Given the description of an element on the screen output the (x, y) to click on. 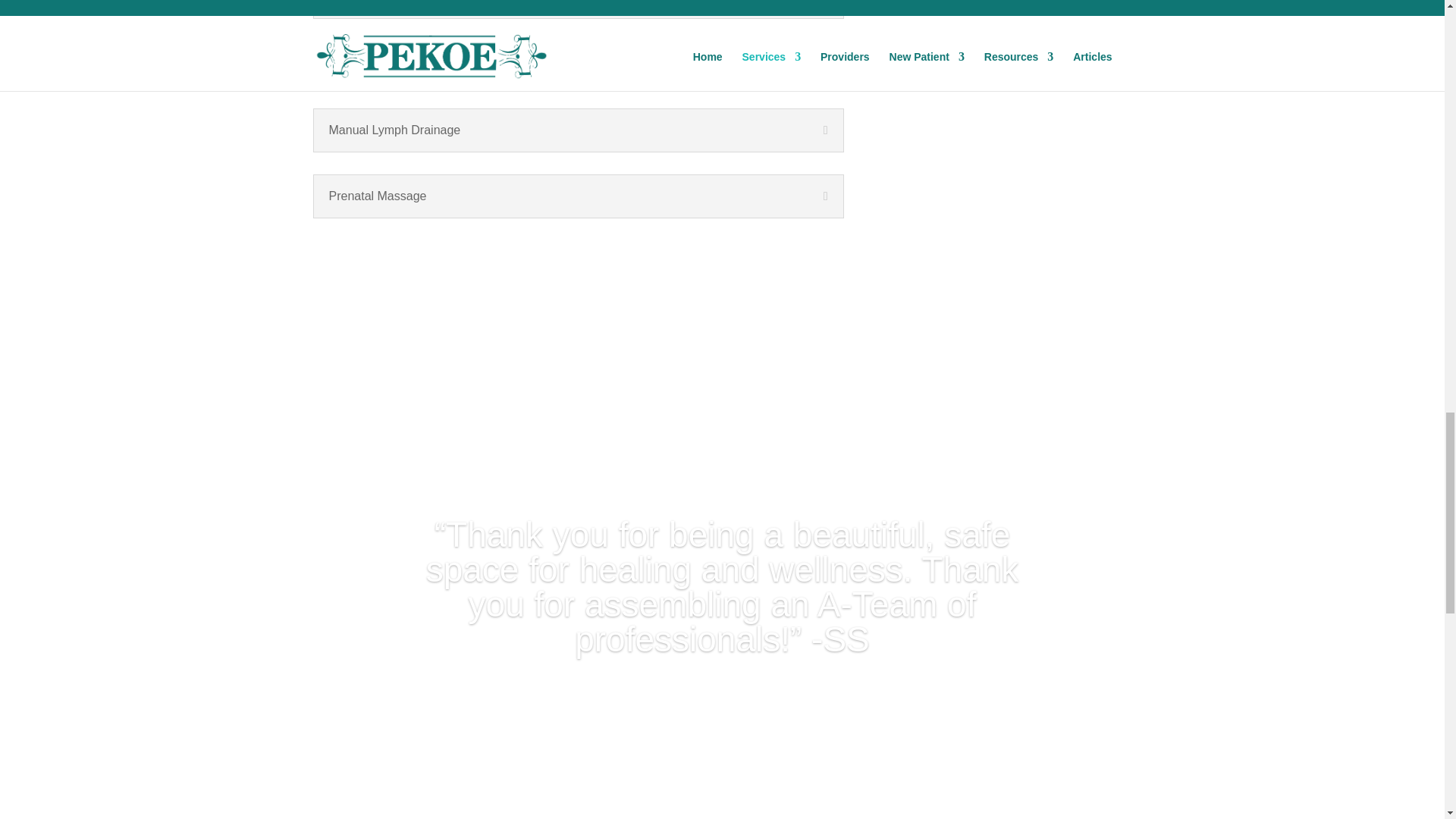
Book Your Bodywork Appointment (443, 259)
